Given the description of an element on the screen output the (x, y) to click on. 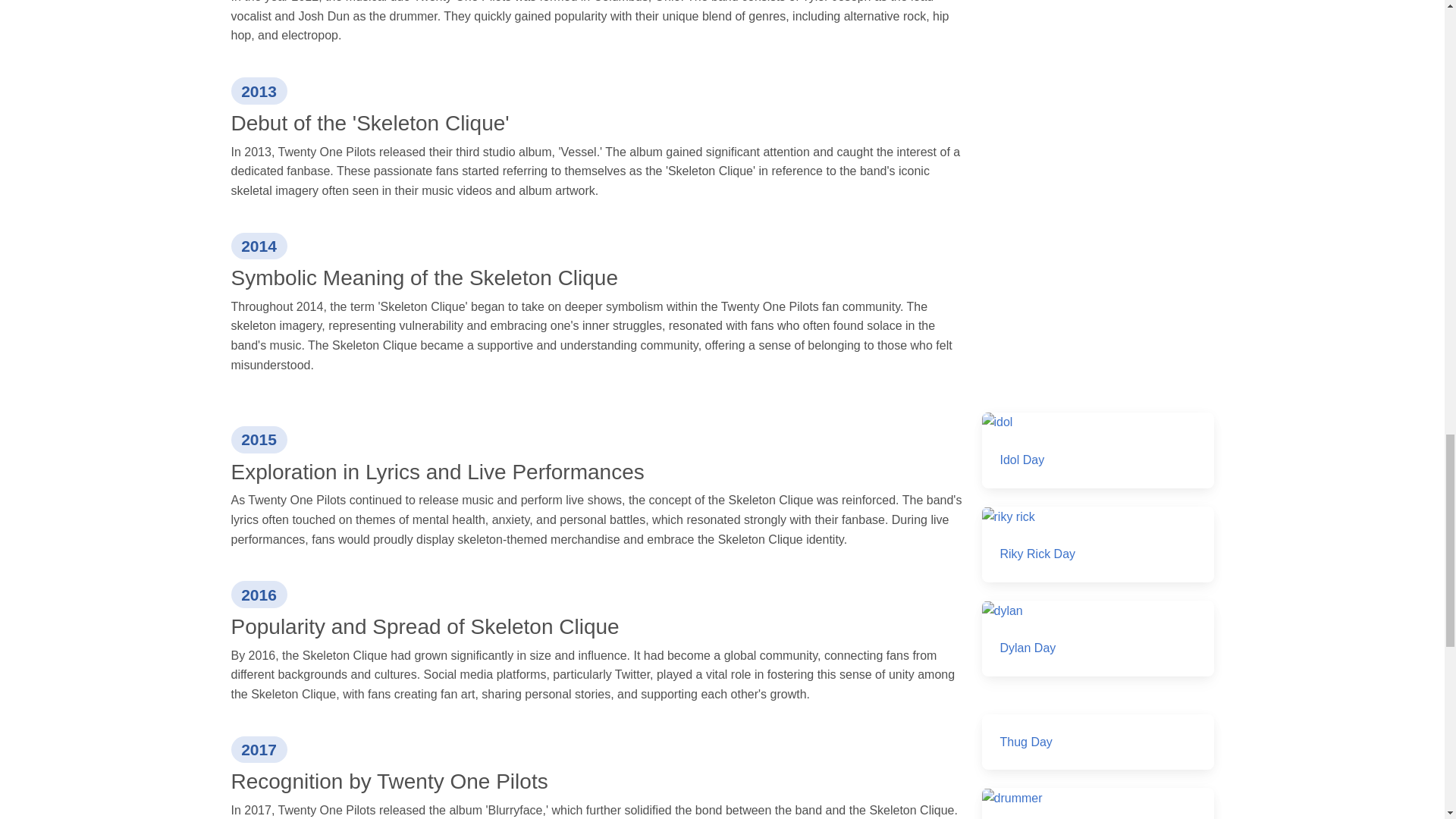
Idol Day (1096, 450)
Dylan Day (1096, 638)
Drummer Day (1096, 803)
Thug Day (1096, 742)
Riky Rick Day (1096, 544)
